Given the description of an element on the screen output the (x, y) to click on. 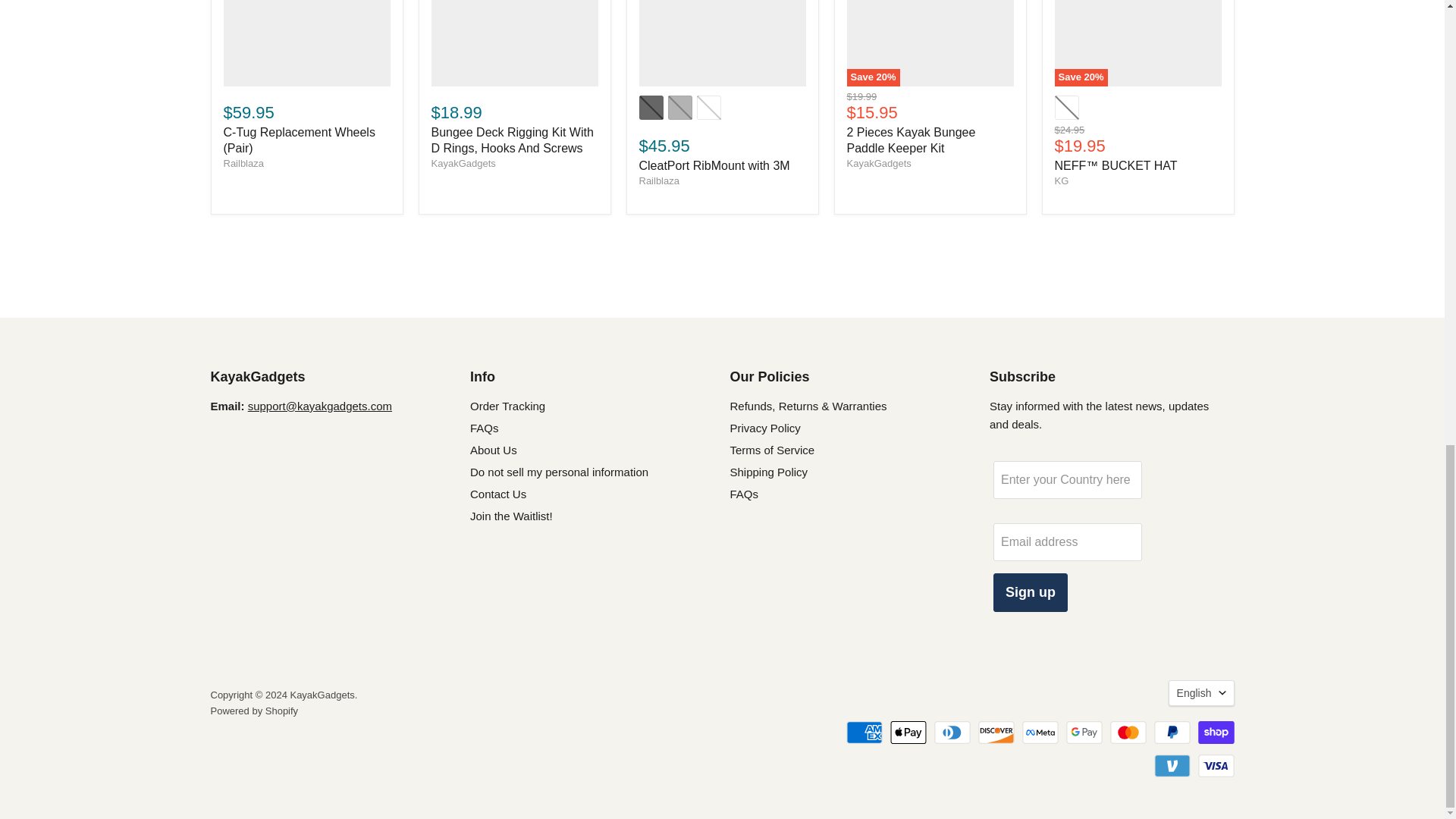
Railblaza (658, 180)
KayakGadgets (878, 163)
KayakGadgets (462, 163)
KG (1061, 180)
Railblaza (242, 163)
